Given the description of an element on the screen output the (x, y) to click on. 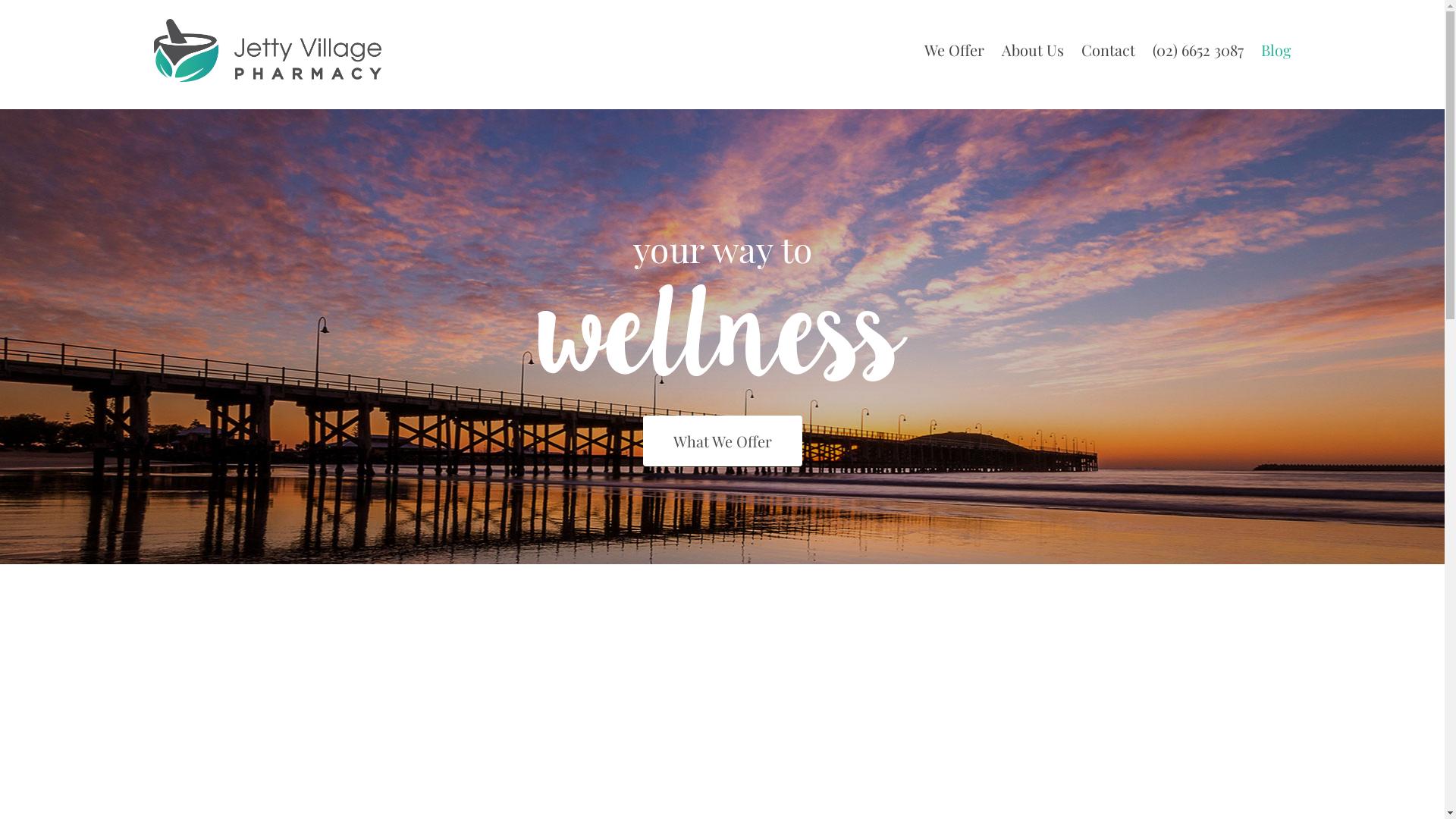
We Offer Element type: text (953, 43)
(02) 6652 3087 Element type: text (1197, 43)
Contact Element type: text (1108, 43)
About Us Element type: text (1032, 43)
Blog Element type: text (1275, 43)
Jetty Village Pharmacy Element type: hover (266, 49)
